Given the description of an element on the screen output the (x, y) to click on. 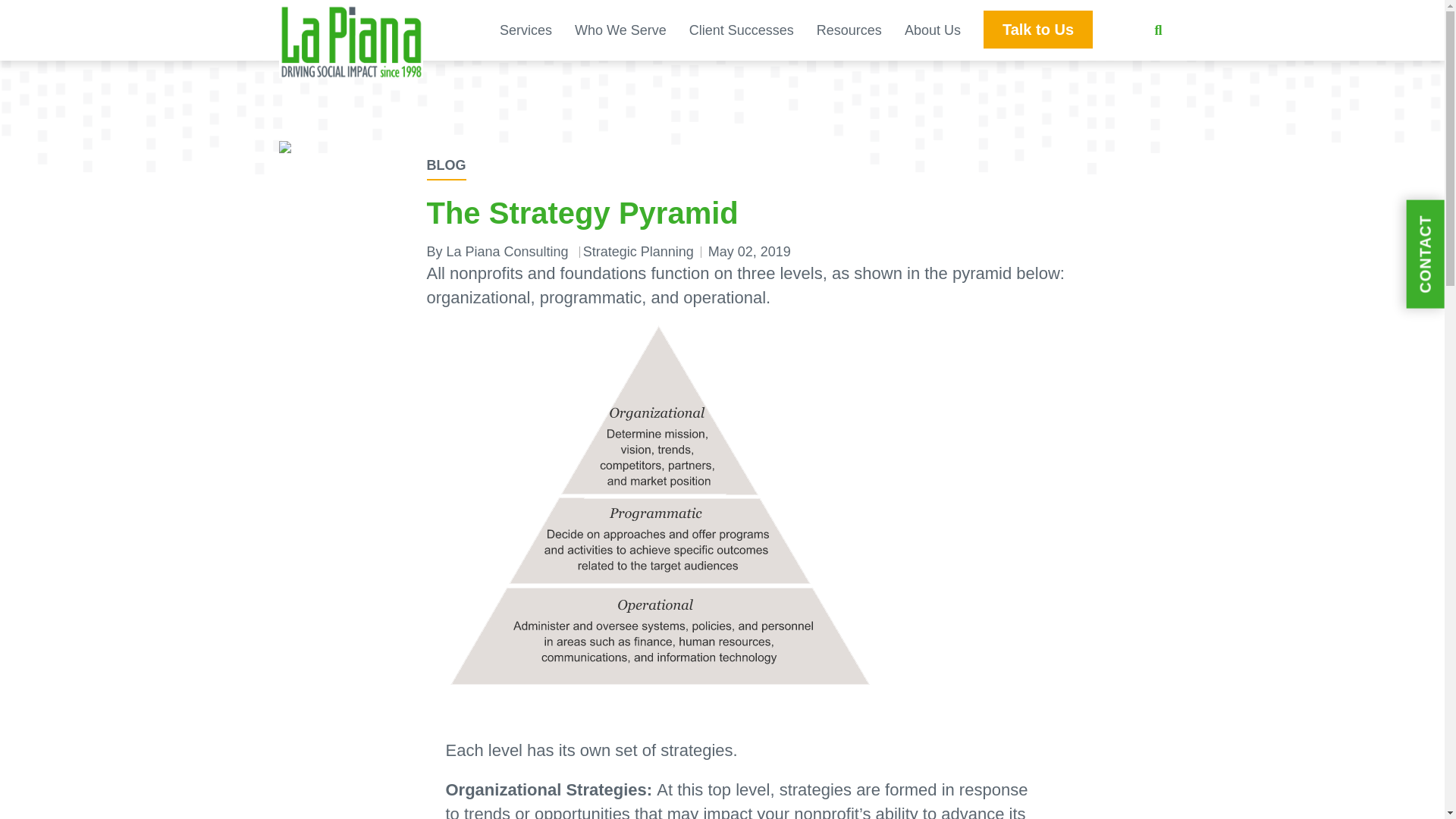
Client Successes (740, 30)
About Us (932, 30)
Talk to Us (1038, 29)
Resources (849, 30)
Who We Serve (620, 30)
La Piana (351, 87)
